Given the description of an element on the screen output the (x, y) to click on. 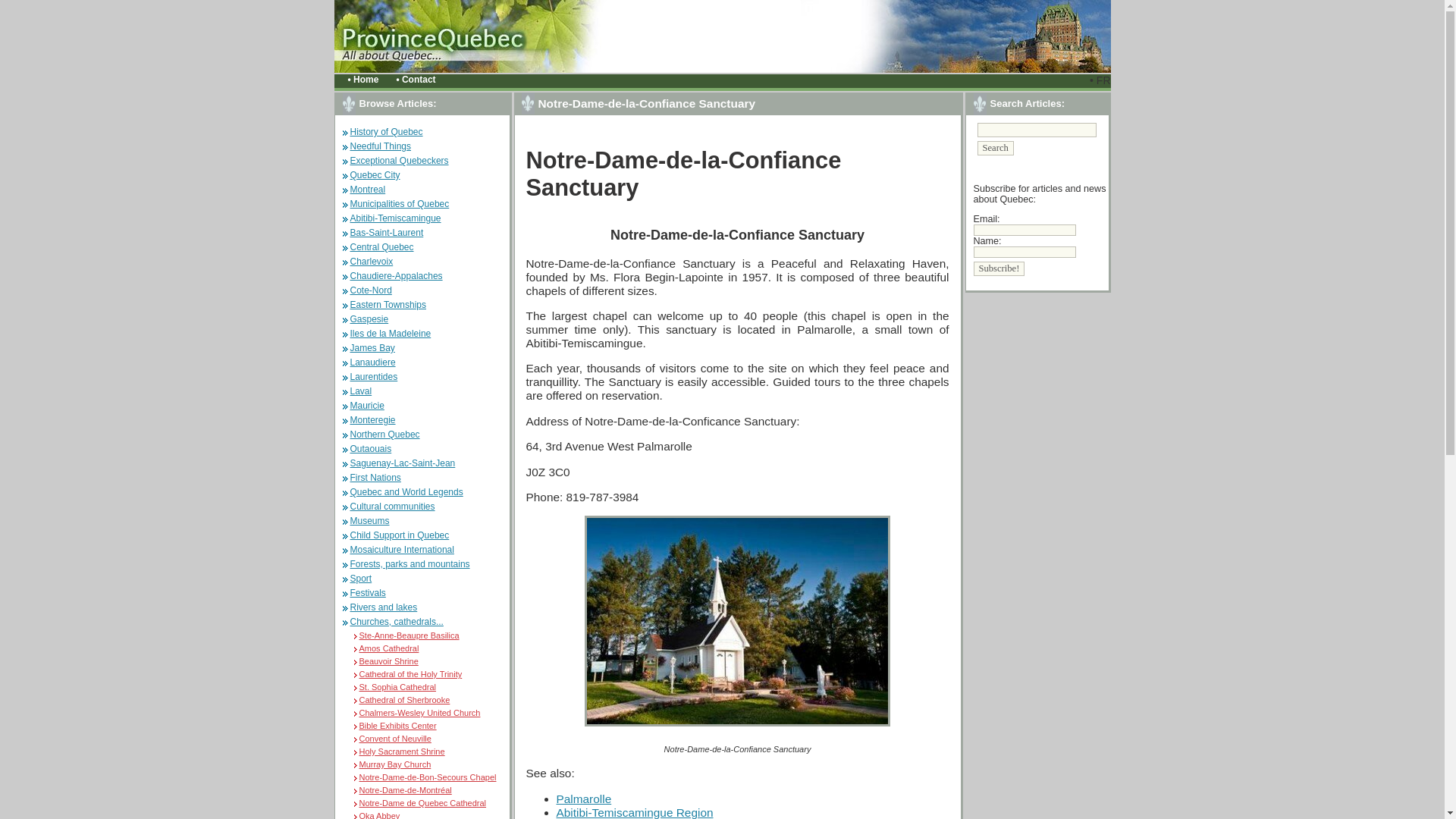
Abitibi-Temiscamingue (395, 217)
Search (994, 147)
Gaspesie (369, 318)
Municipalities of Quebec (399, 204)
Sport (361, 578)
Quebec City (375, 174)
Subscribe! (999, 268)
Northern Quebec (385, 434)
Mauricie (367, 405)
Cultural communities (392, 506)
